Given the description of an element on the screen output the (x, y) to click on. 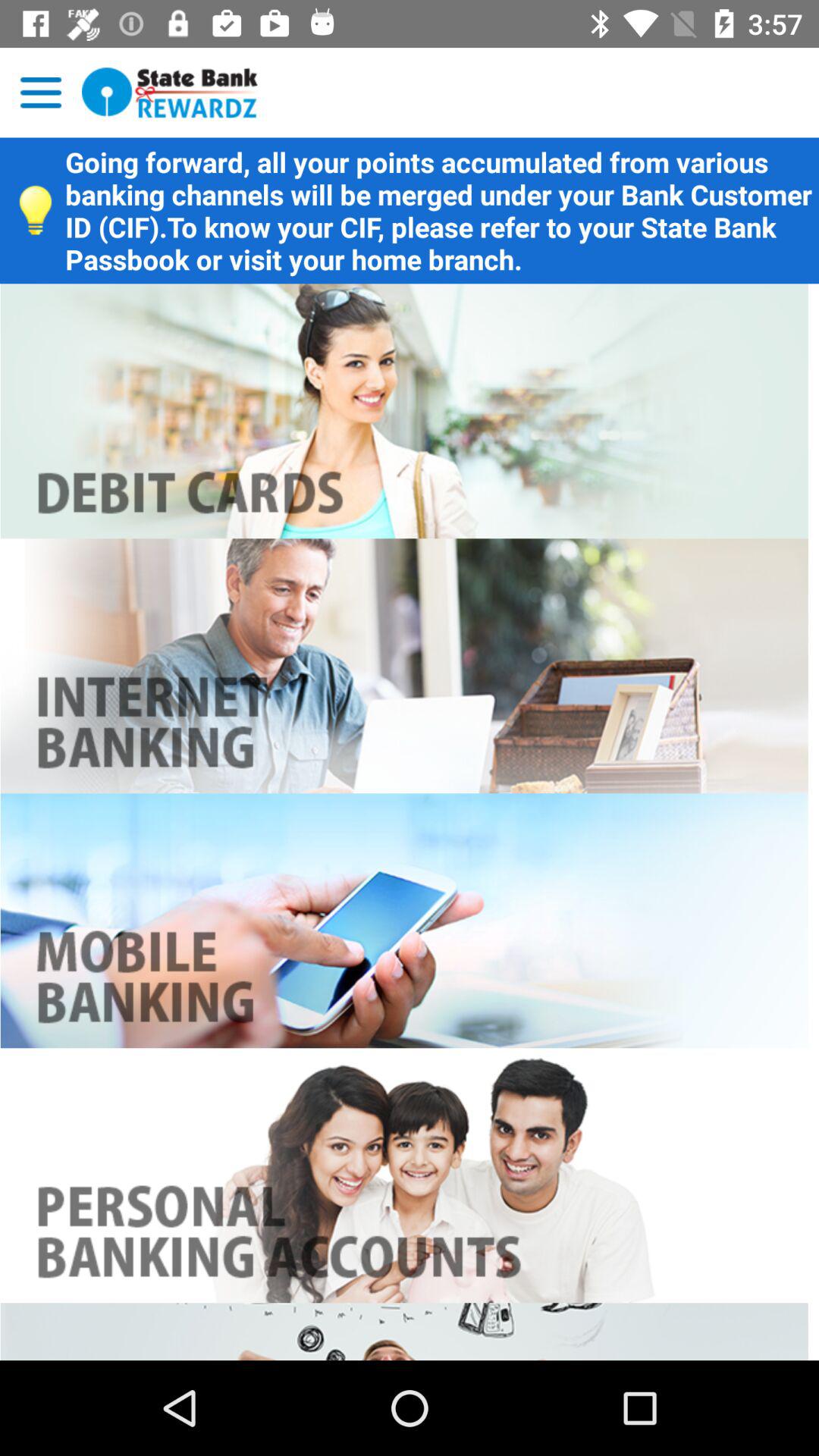
go home (169, 92)
